Given the description of an element on the screen output the (x, y) to click on. 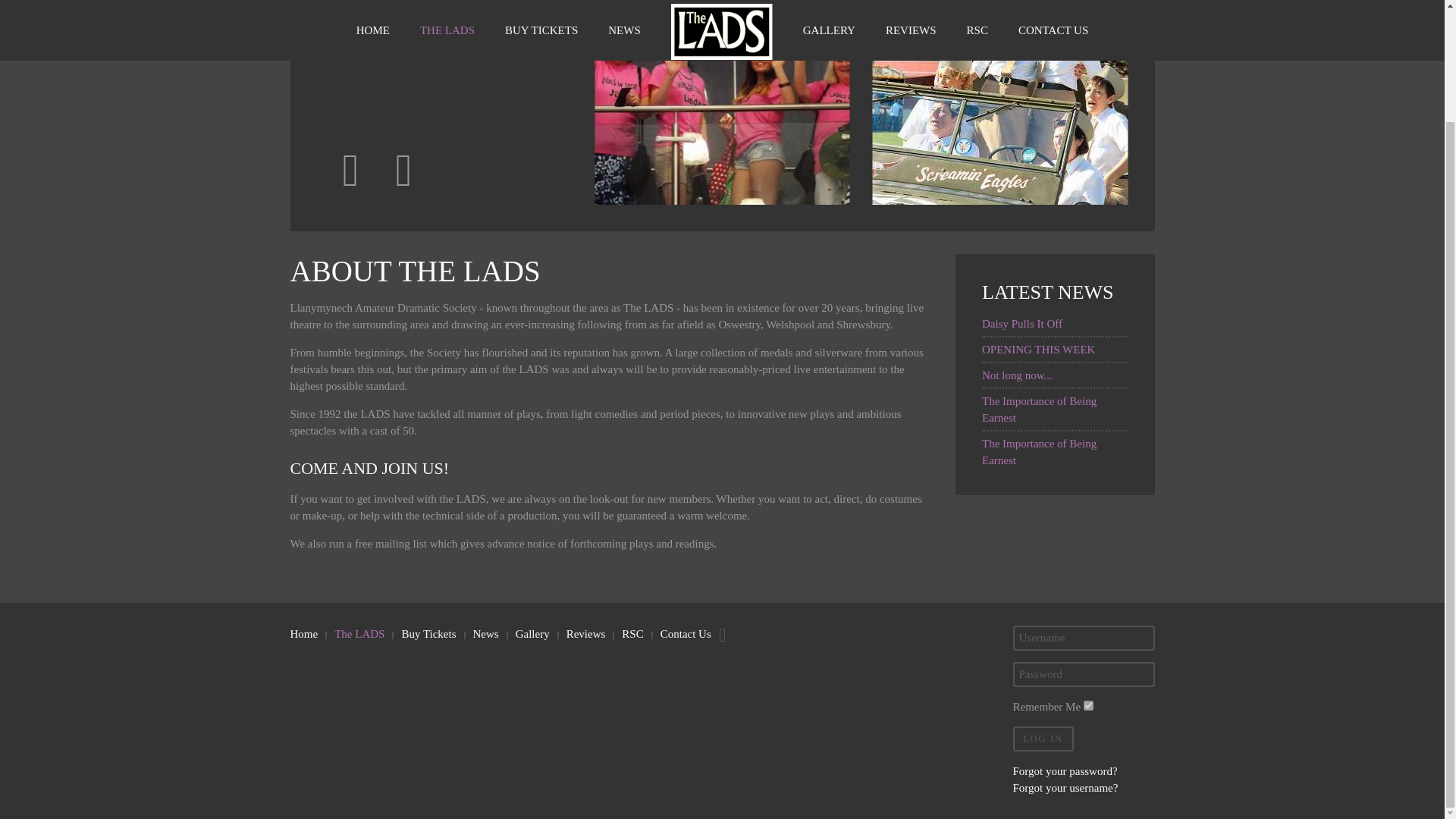
Not long now... (1016, 375)
yes (1088, 705)
The LADS (359, 633)
Daisy Pulls It Off (1021, 323)
The Importance of Being Earnest (1038, 451)
Home (303, 633)
OPENING THIS WEEK (1037, 349)
The Importance of Being Earnest (1038, 409)
